Given the description of an element on the screen output the (x, y) to click on. 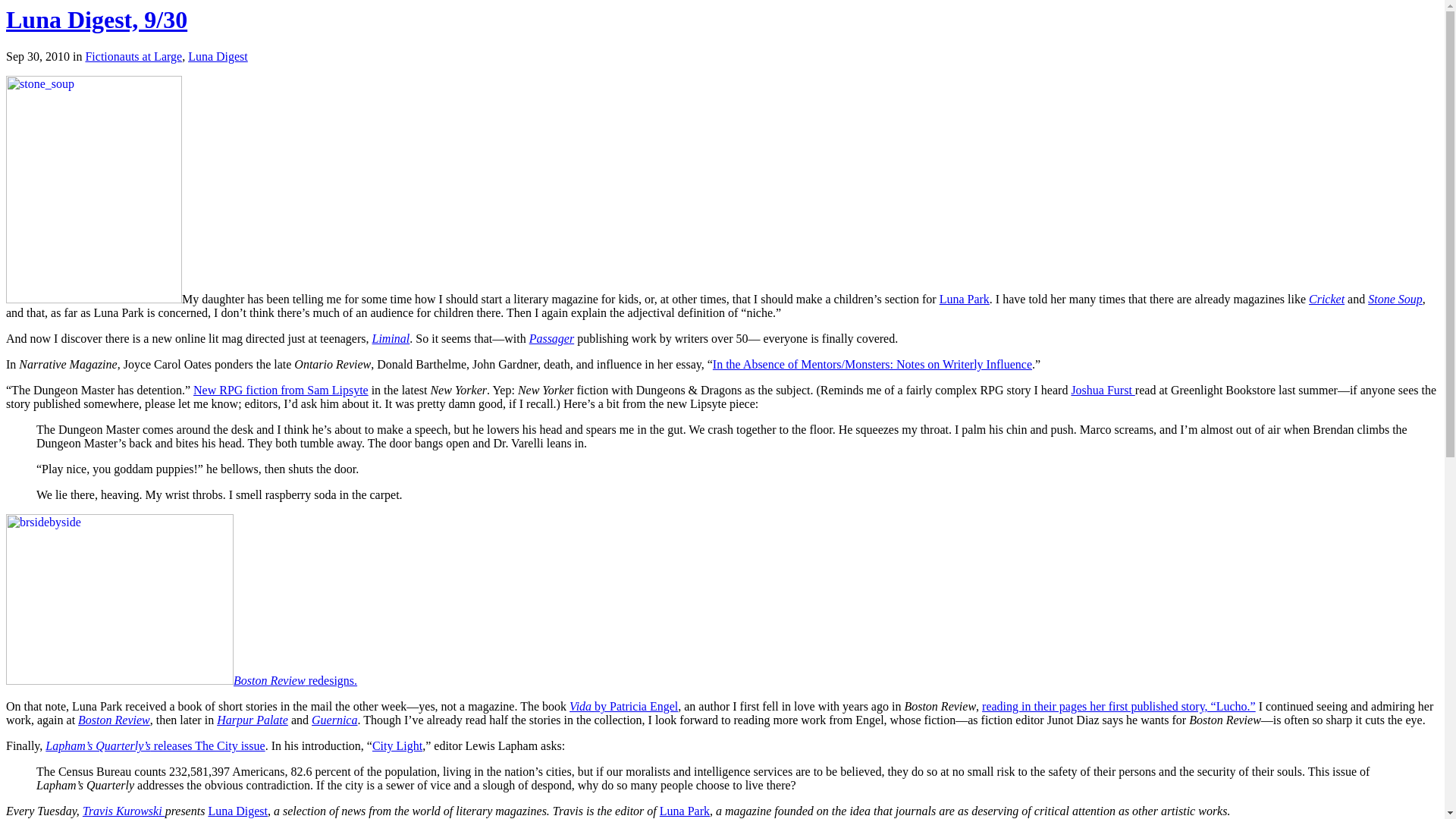
Joshua Furst (1102, 390)
Liminal (391, 338)
Passager (552, 338)
City Light (397, 745)
Boston Review redesigns. (180, 680)
Harpur Palate (252, 719)
Boston Review (113, 719)
Cricket (1325, 298)
Luna Digest (237, 810)
Luna Park (964, 298)
Stone Soup (1395, 298)
Travis Kurowski (123, 810)
Guernica (333, 719)
Luna Digest (217, 56)
Fictionauts at Large (133, 56)
